Given the description of an element on the screen output the (x, y) to click on. 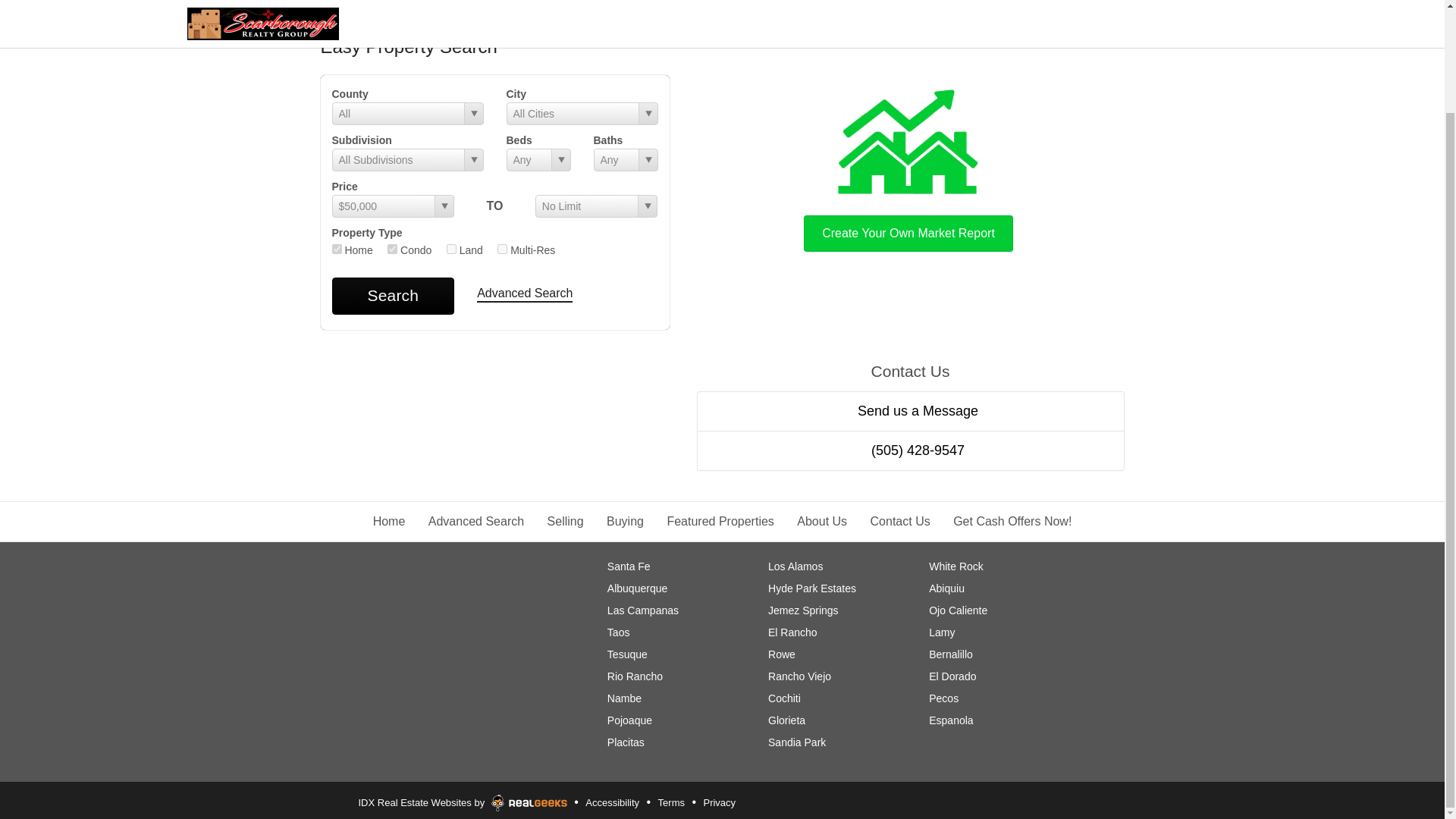
White Rock (956, 566)
Featured Properties (719, 521)
lnd (451, 248)
Selling (565, 521)
Advanced Search (476, 521)
Ojo Caliente (957, 610)
Advanced Search (524, 294)
con (392, 248)
Jemez Springs (803, 610)
About Us (821, 521)
